Given the description of an element on the screen output the (x, y) to click on. 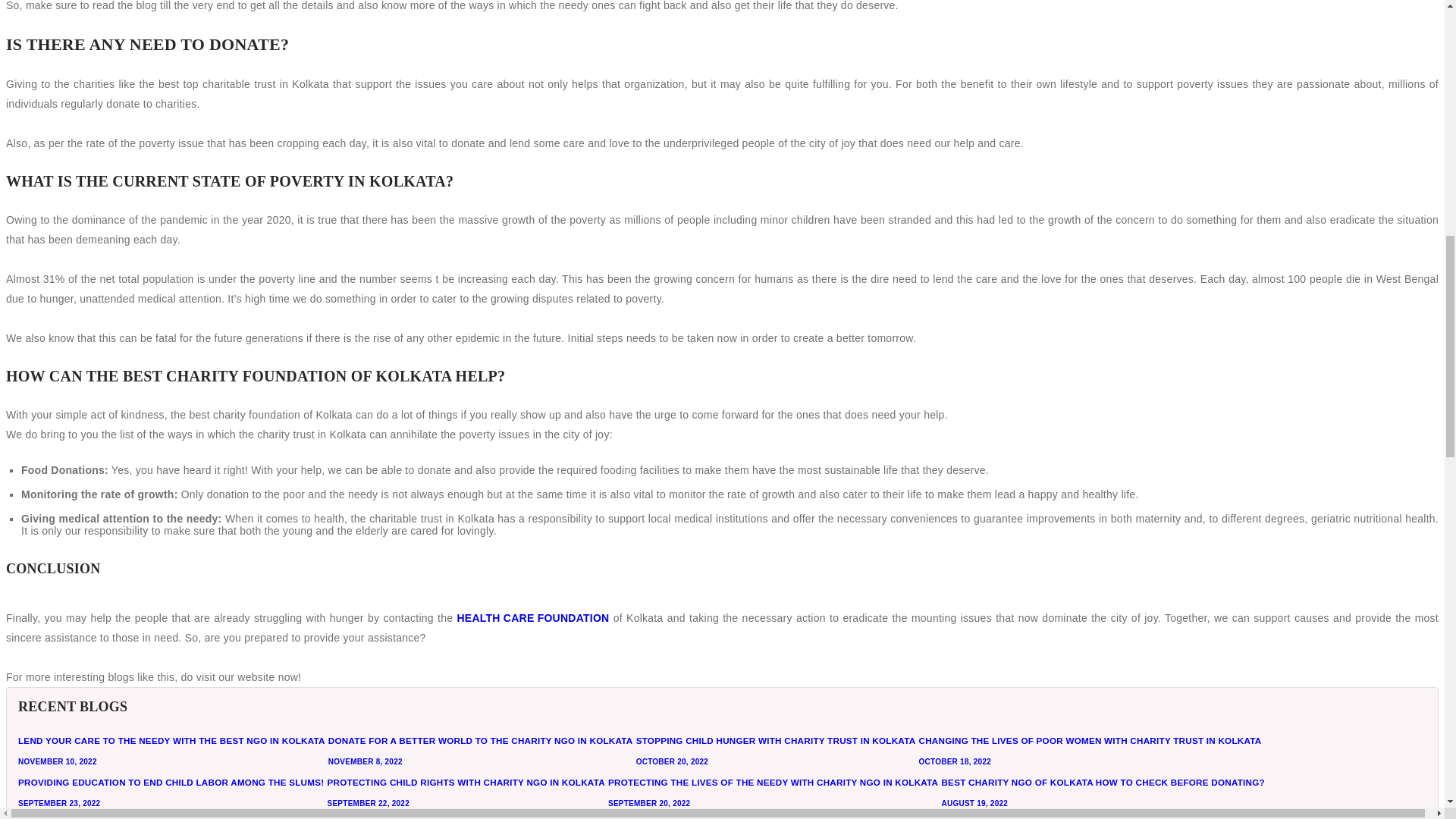
HEALTH CARE FOUNDATION (532, 618)
